Given the description of an element on the screen output the (x, y) to click on. 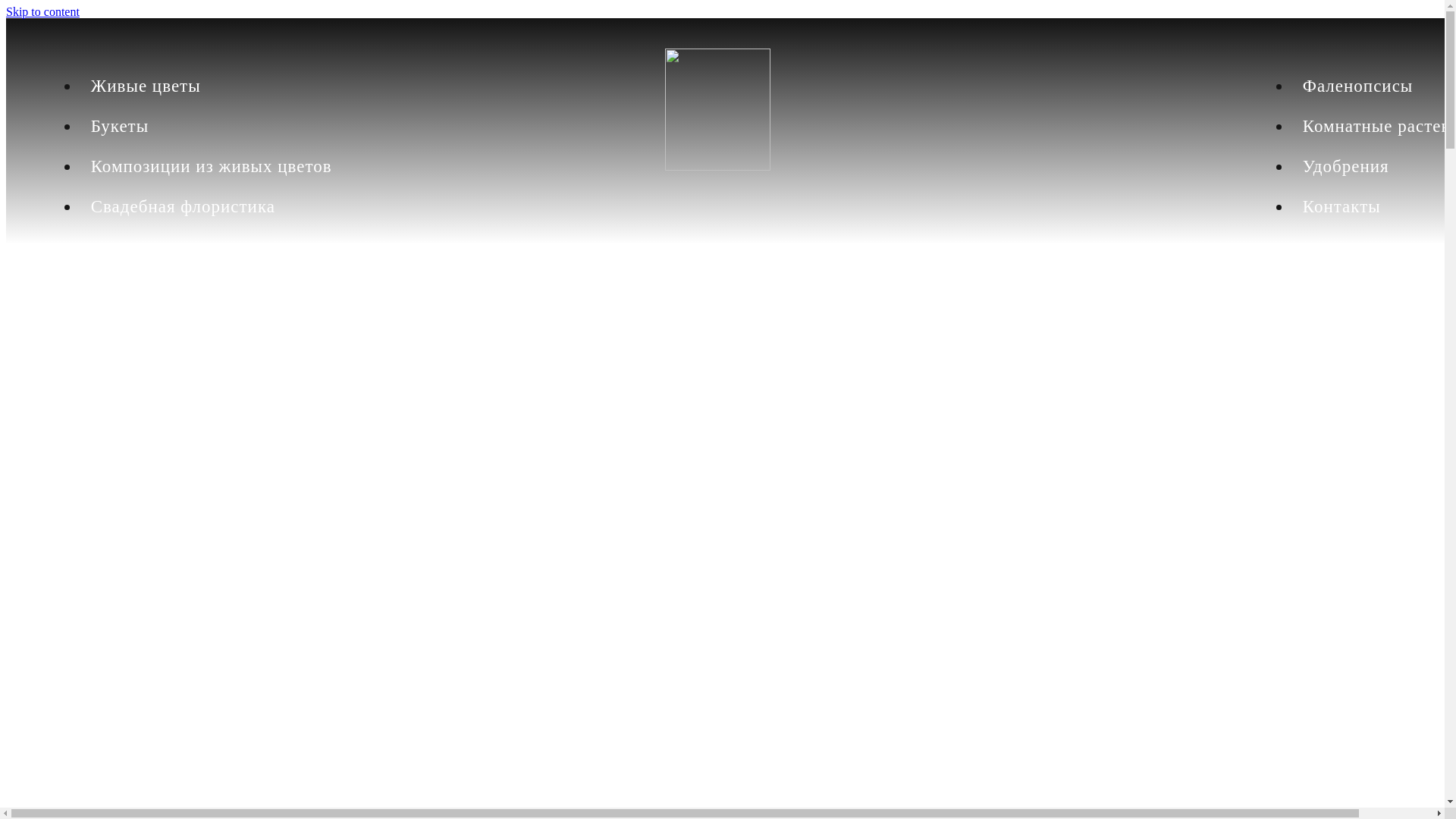
Skip to content Element type: text (42, 11)
